Given the description of an element on the screen output the (x, y) to click on. 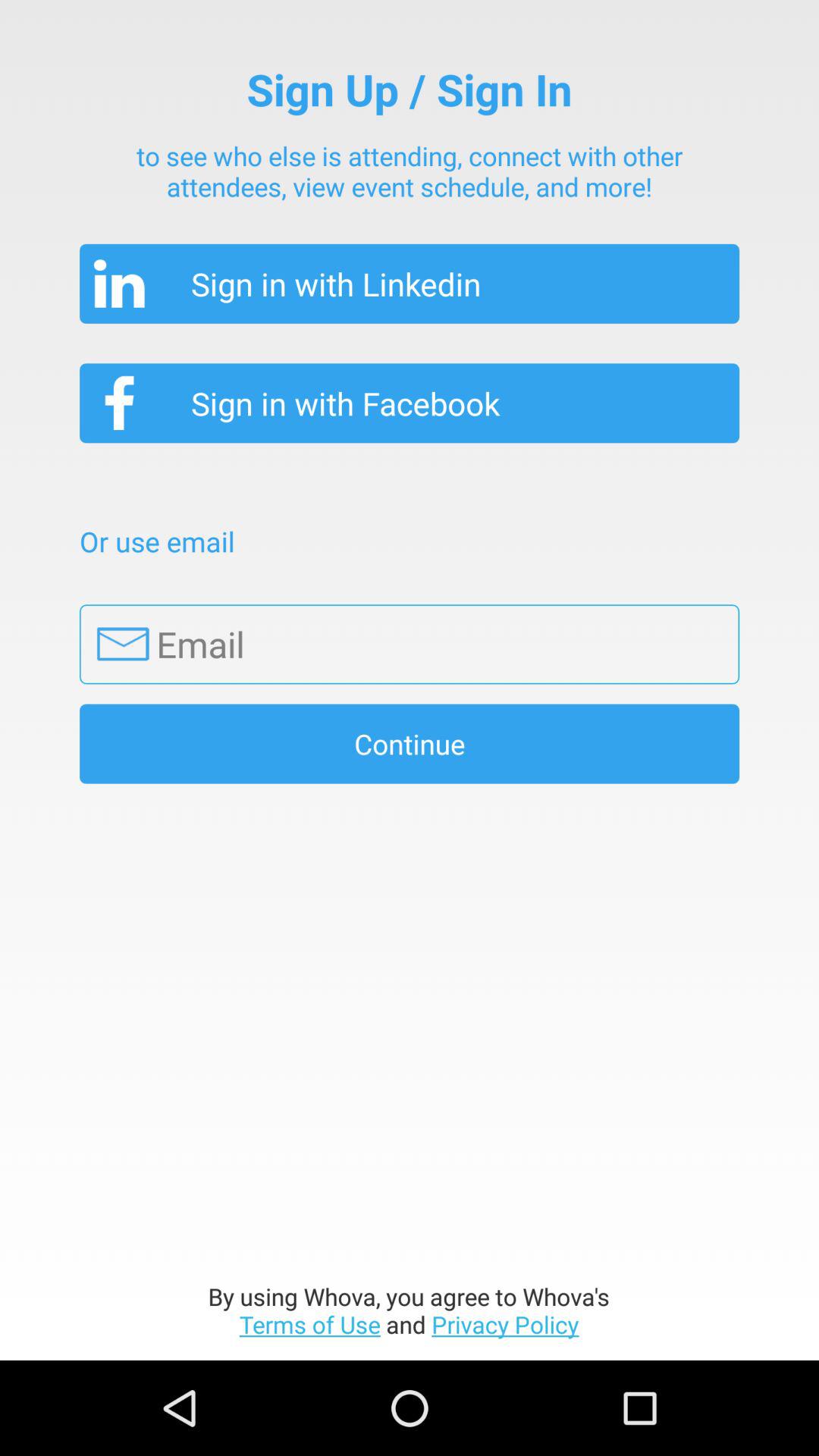
orange box flashing for entering email address (409, 644)
